Given the description of an element on the screen output the (x, y) to click on. 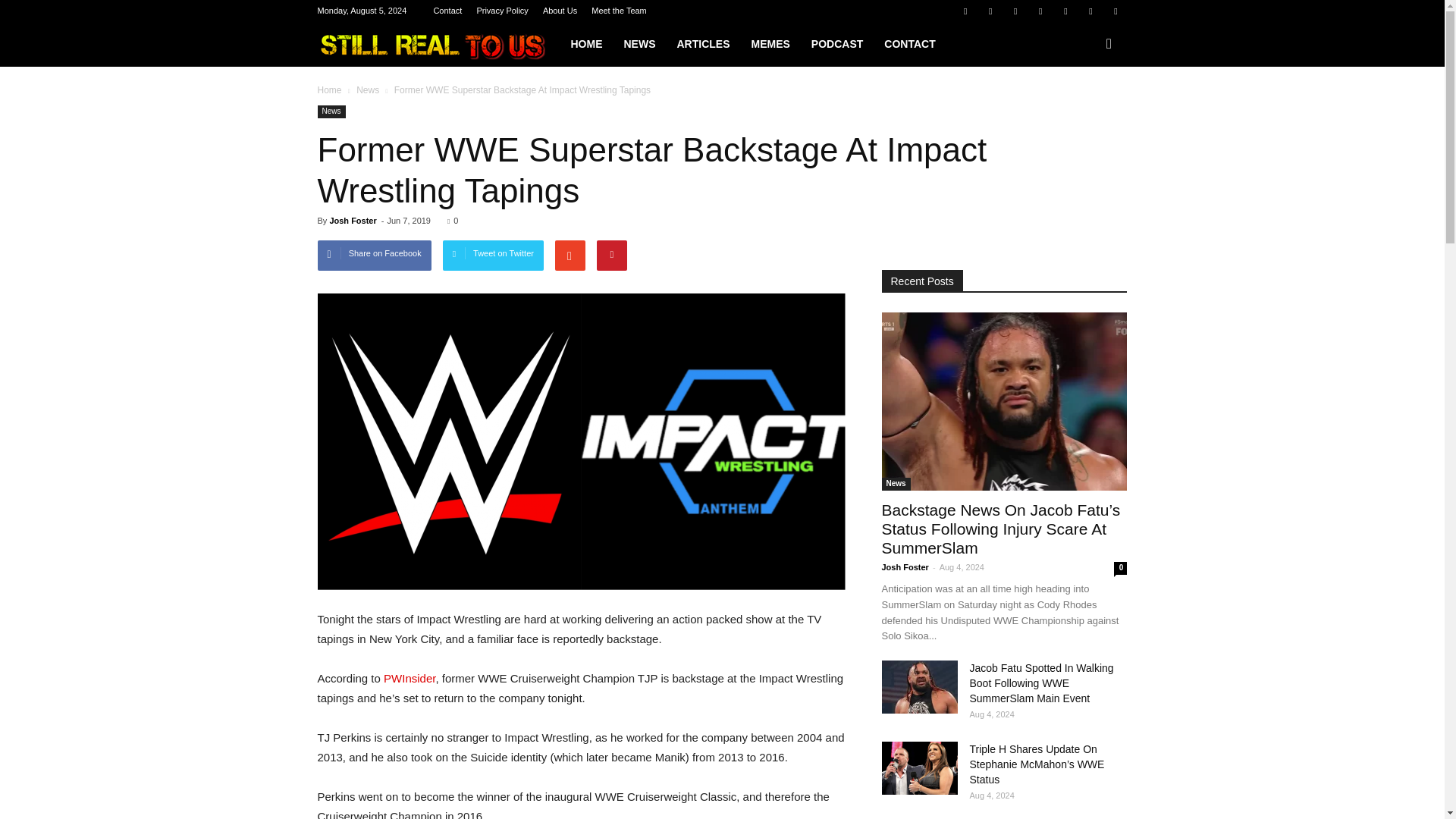
Pinterest (1040, 10)
NEWS (638, 43)
PODCAST (836, 43)
Soundcloud (1065, 10)
Meet the Team (618, 10)
StillRealToUs.com (438, 43)
Twitter (1090, 10)
Contact (446, 10)
About Us (559, 10)
Instagram (1015, 10)
